Given the description of an element on the screen output the (x, y) to click on. 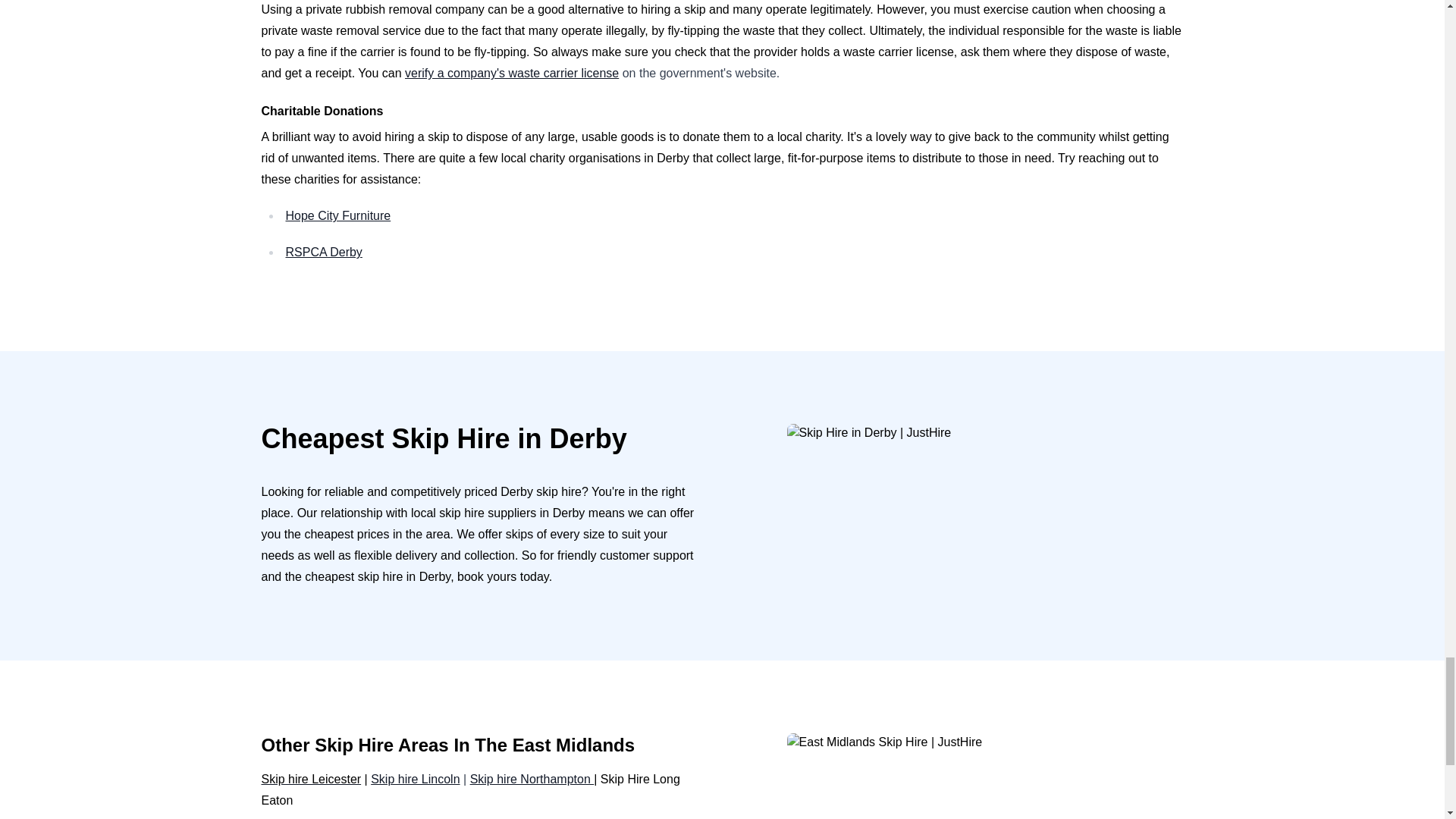
verify a company's waste carrier license (511, 72)
Skip hire Lincoln (415, 779)
Skip hire Leicester (310, 779)
Hope City Furniture (337, 215)
RSPCA Derby (323, 251)
Skip hire Northampton (532, 779)
